Given the description of an element on the screen output the (x, y) to click on. 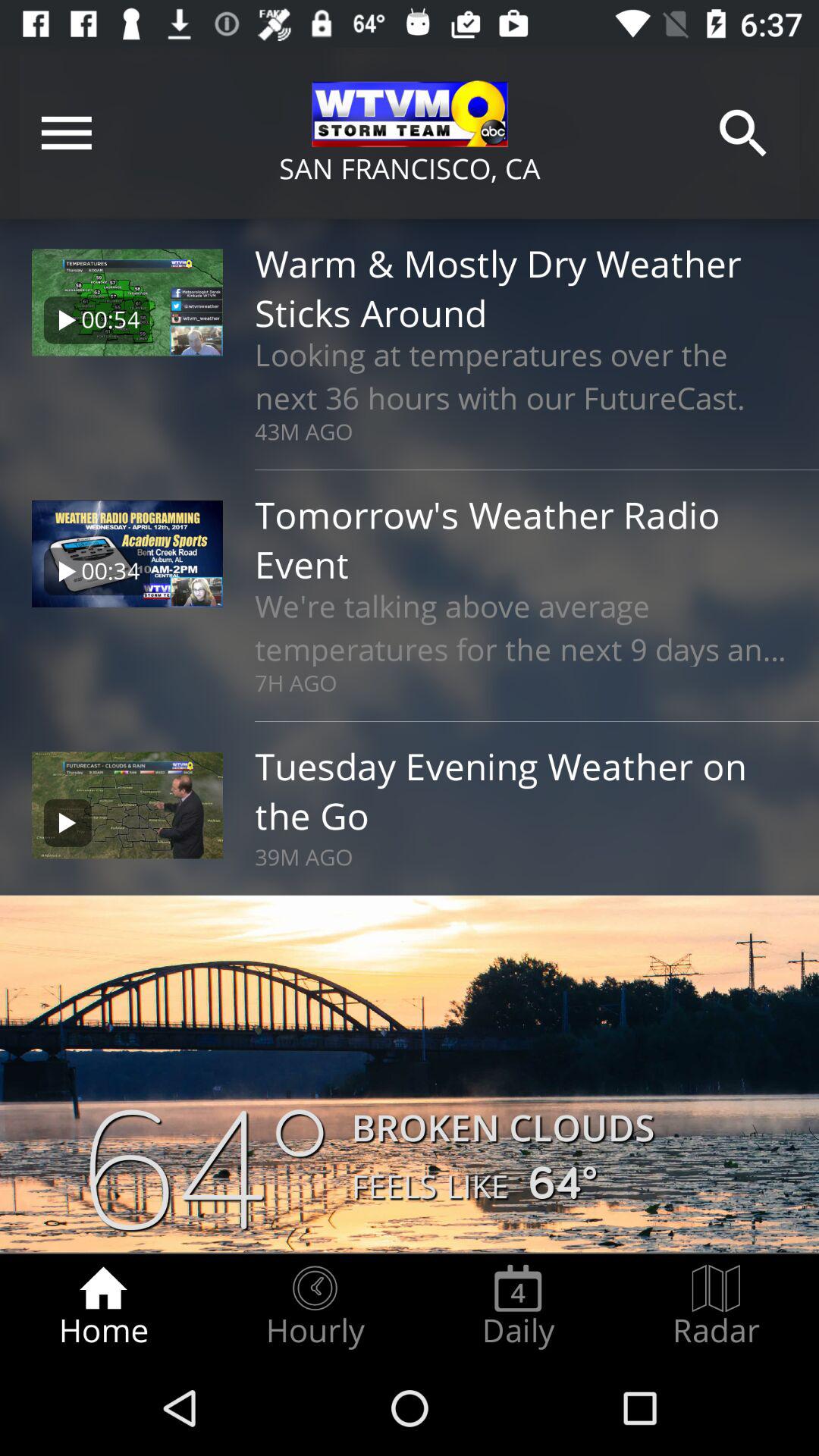
swipe until the hourly icon (315, 1307)
